Given the description of an element on the screen output the (x, y) to click on. 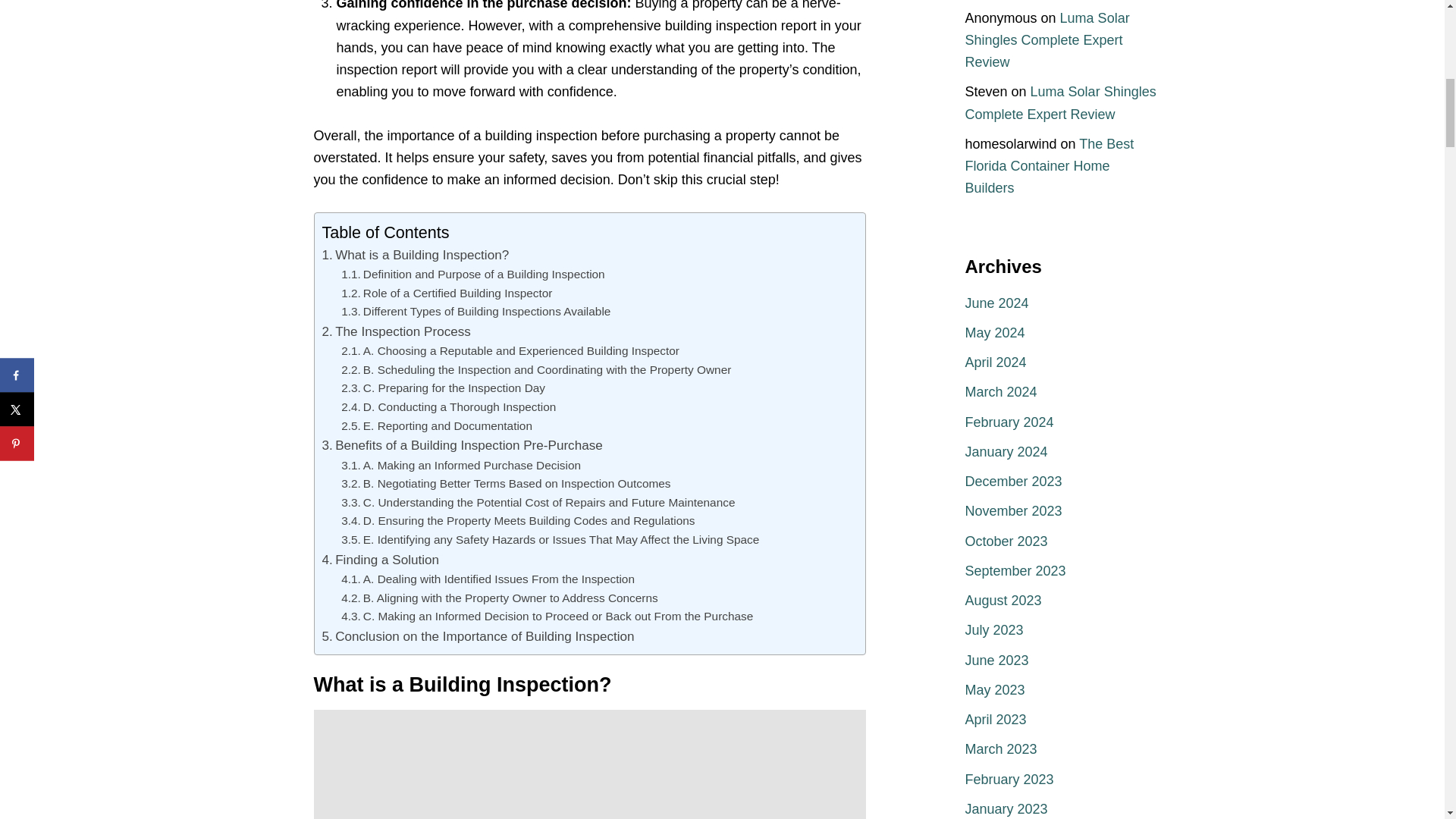
E. Reporting and Documentation (436, 425)
D. Conducting a Thorough Inspection (448, 407)
A. Choosing a Reputable and Experienced Building Inspector (509, 351)
Different Types of Building Inspections Available (475, 311)
A. Making an Informed Purchase Decision (460, 465)
A. Dealing with Identified Issues From the Inspection (487, 579)
Benefits of a Building Inspection Pre-Purchase (461, 444)
B. Aligning with the Property Owner to Address Concerns (499, 598)
Definition and Purpose of a Building Inspection (472, 274)
E. Reporting and Documentation (436, 425)
Finding a Solution (380, 559)
